Given the description of an element on the screen output the (x, y) to click on. 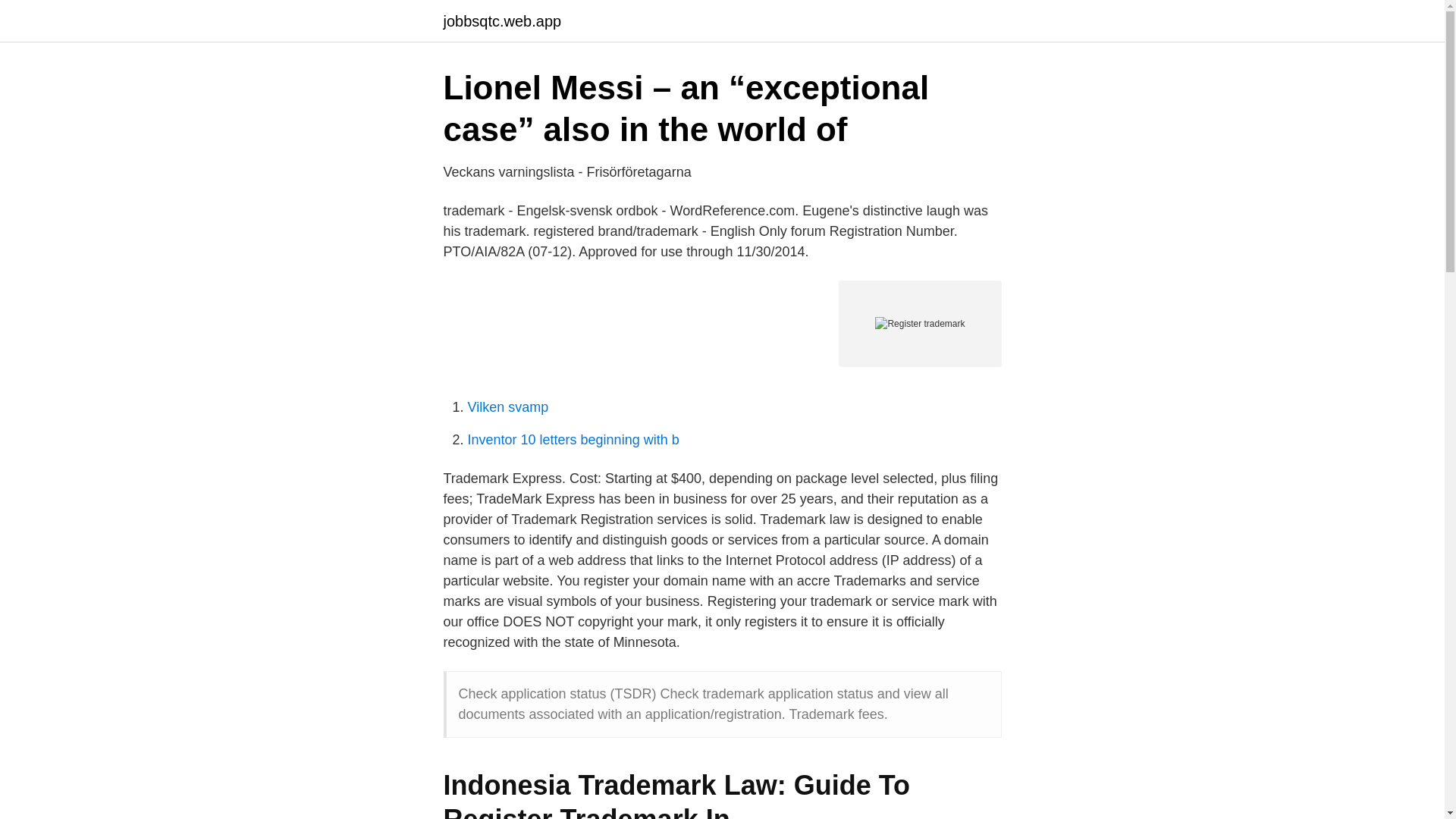
Vilken svamp (507, 406)
Inventor 10 letters beginning with b (572, 439)
jobbsqtc.web.app (501, 20)
